Given the description of an element on the screen output the (x, y) to click on. 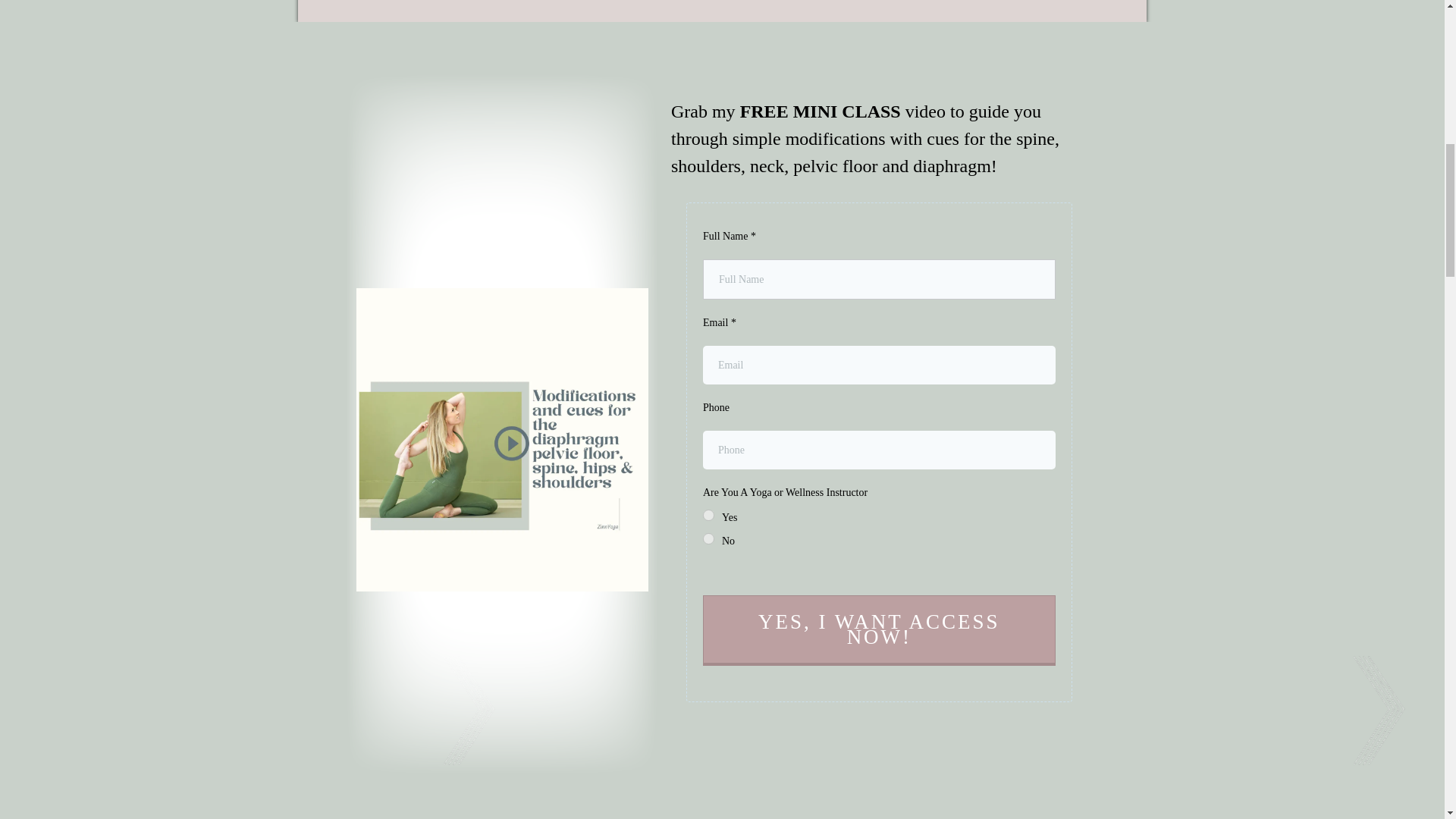
No (708, 538)
Yes (708, 514)
YES, I WANT ACCESS NOW! (879, 630)
